Given the description of an element on the screen output the (x, y) to click on. 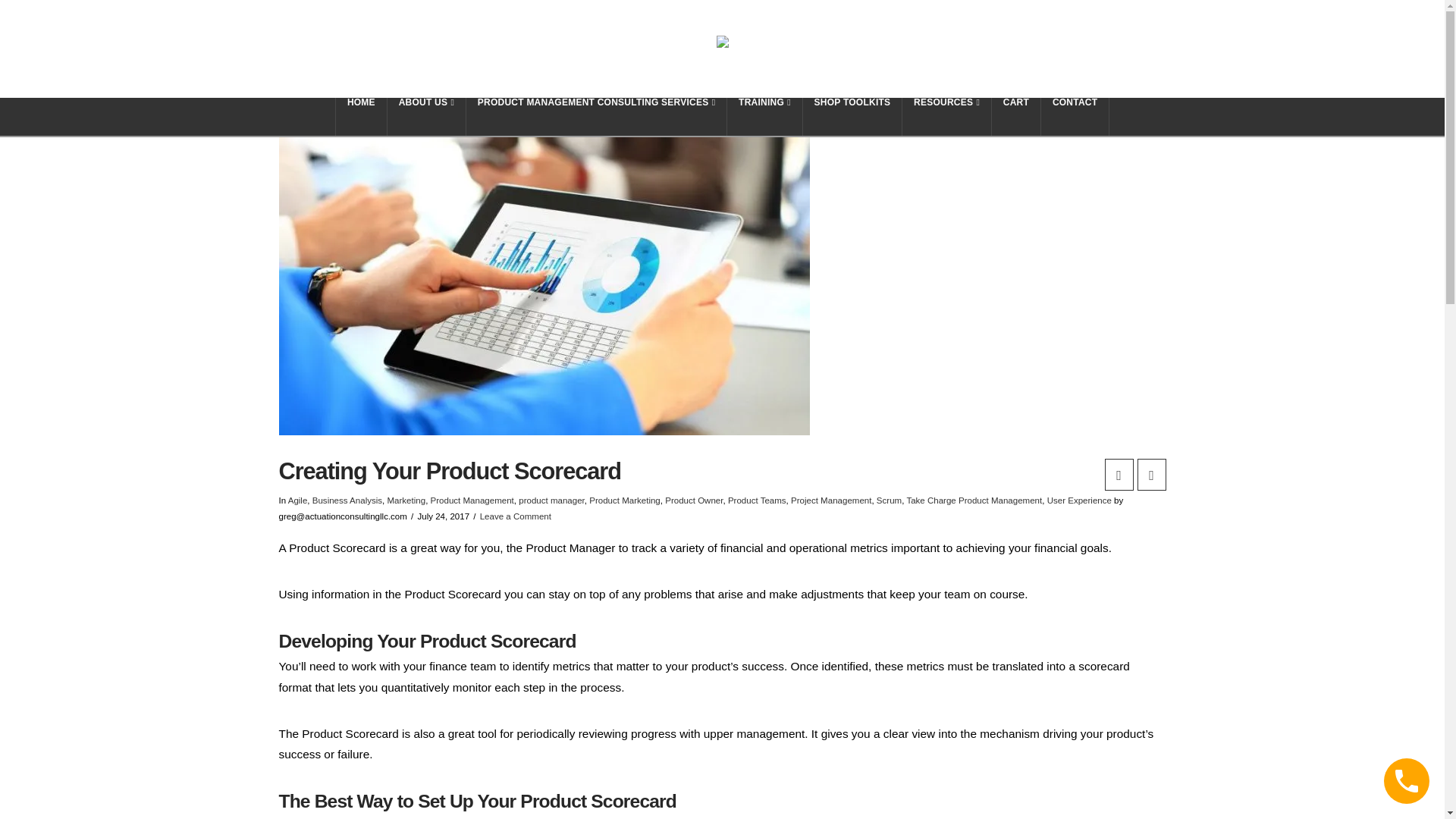
HOME (360, 116)
TRAINING (764, 116)
PRODUCT MANAGEMENT CONSULTING SERVICES (595, 116)
RESOURCES (946, 116)
CONTACT (1075, 116)
SHOP TOOLKITS (852, 116)
CART (1016, 116)
ABOUT US (426, 116)
